Given the description of an element on the screen output the (x, y) to click on. 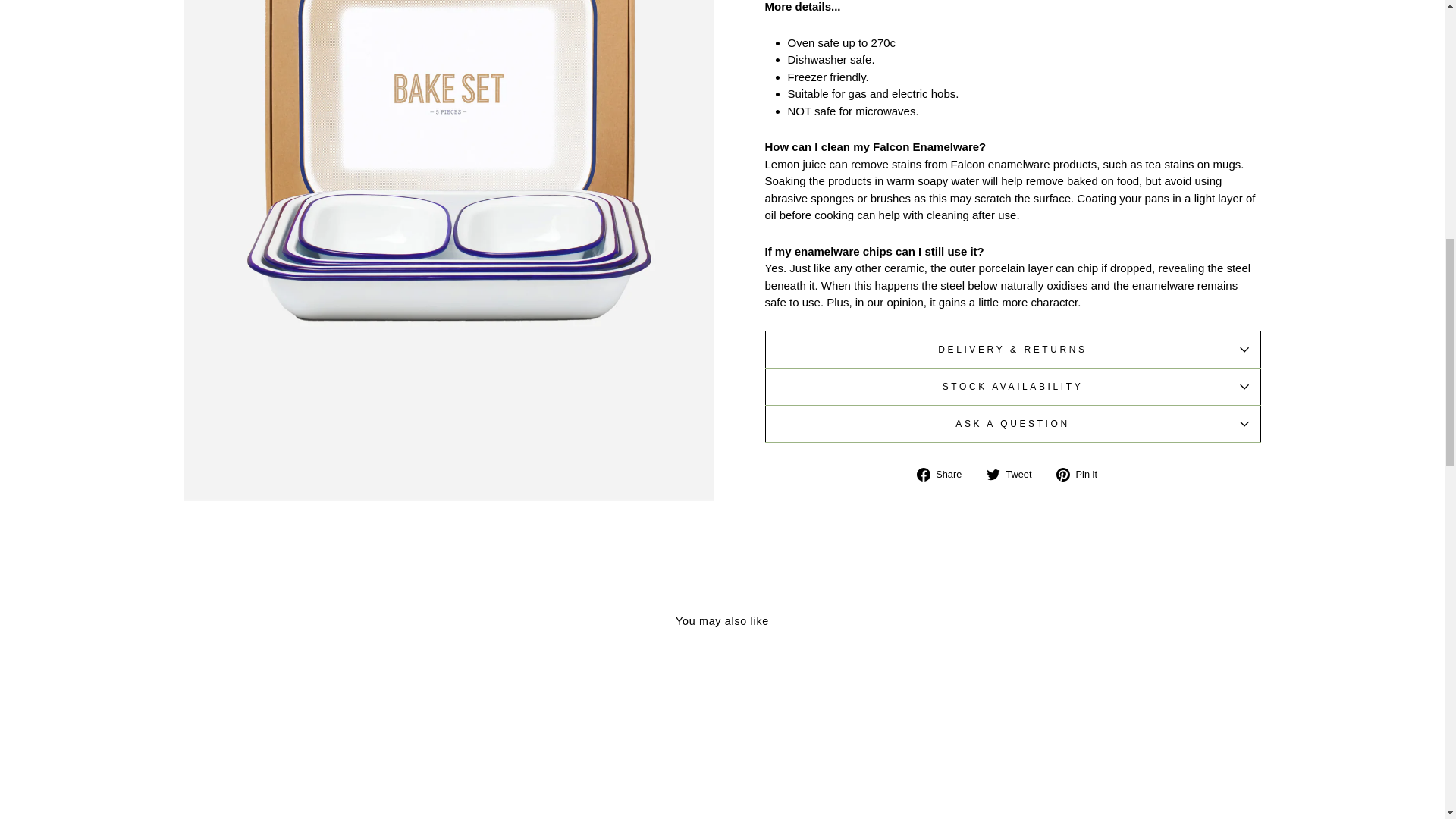
twitter (993, 474)
Share on Facebook (944, 474)
Tweet on Twitter (1014, 474)
Pin on Pinterest (1082, 474)
